Given the description of an element on the screen output the (x, y) to click on. 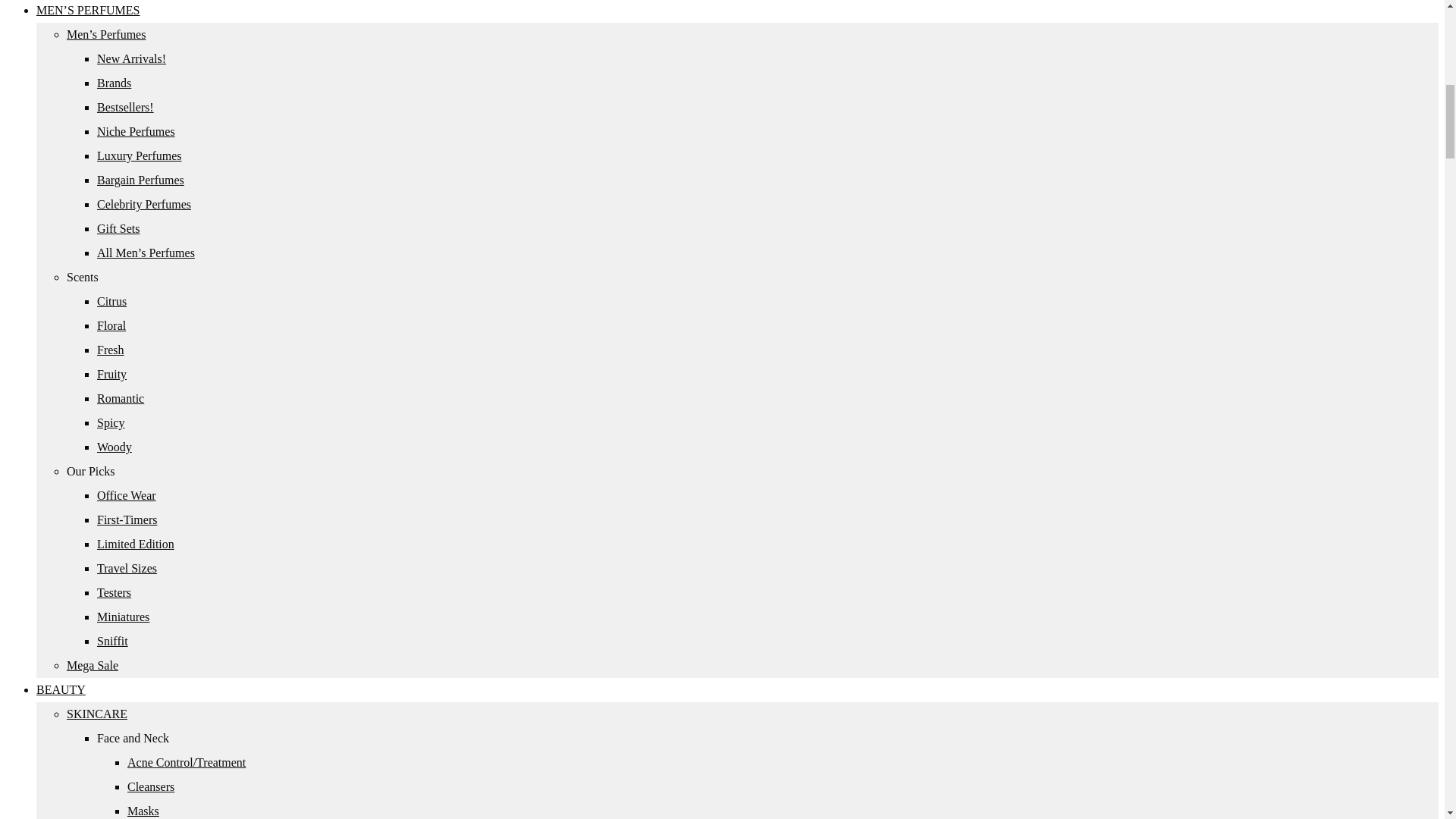
Bestsellers! (125, 106)
New Arrivals! (131, 58)
Niche Perfumes (135, 131)
Brands (114, 82)
Luxury Perfumes (139, 155)
